Given the description of an element on the screen output the (x, y) to click on. 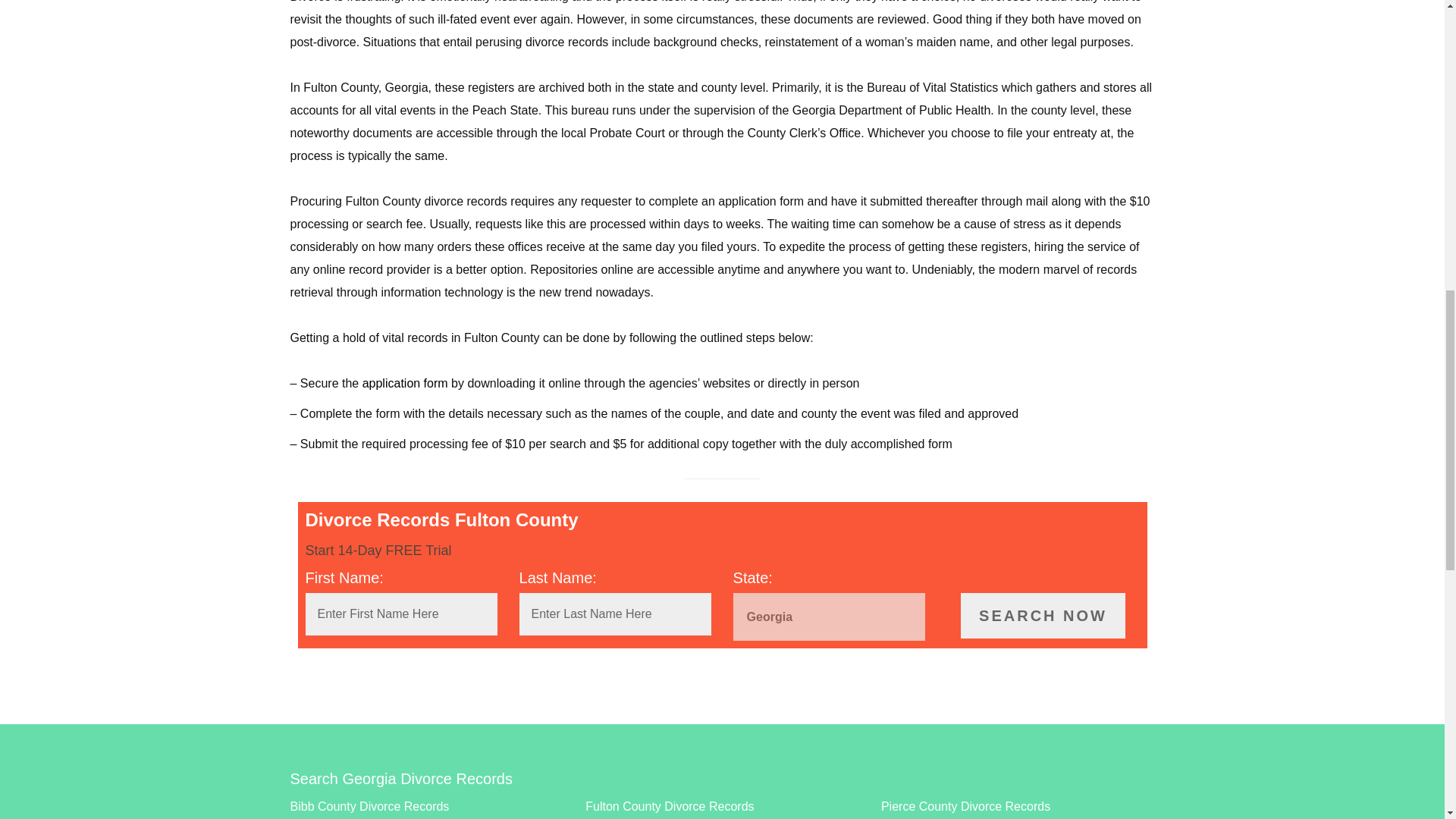
Bibb County Divorce Records (368, 806)
Search Now (1042, 615)
Bibb County Divorce Records (368, 806)
application form (405, 382)
Search Now (1042, 615)
Fulton County Divorce Records (669, 806)
